Given the description of an element on the screen output the (x, y) to click on. 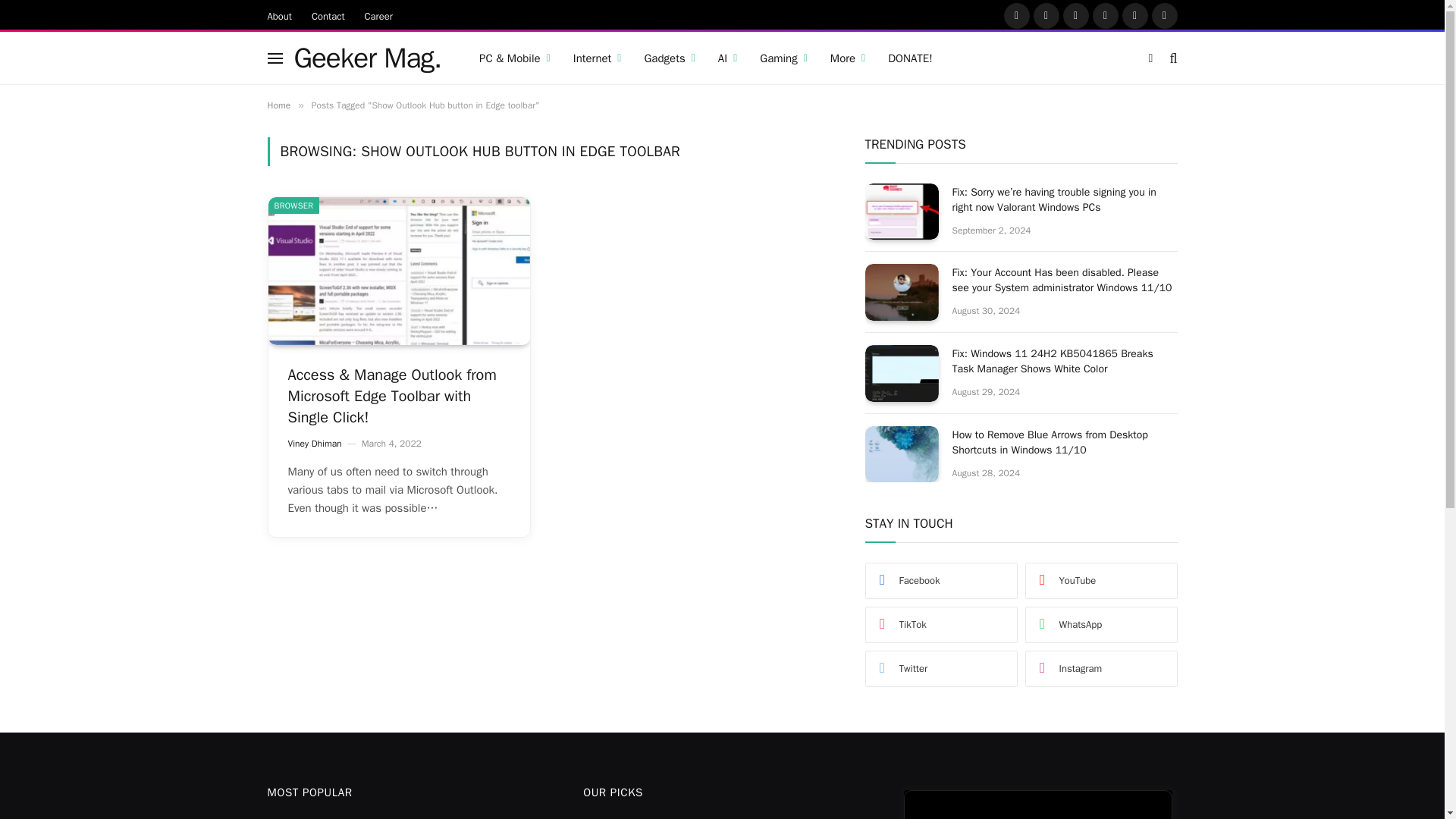
Career (379, 15)
Pinterest (1105, 15)
WhatsApp (1163, 15)
Contact (328, 15)
Facebook (1016, 15)
LinkedIn (1135, 15)
About (279, 15)
Geeker Mag. (368, 57)
Instagram (1075, 15)
Geeker Mag. (368, 57)
